Given the description of an element on the screen output the (x, y) to click on. 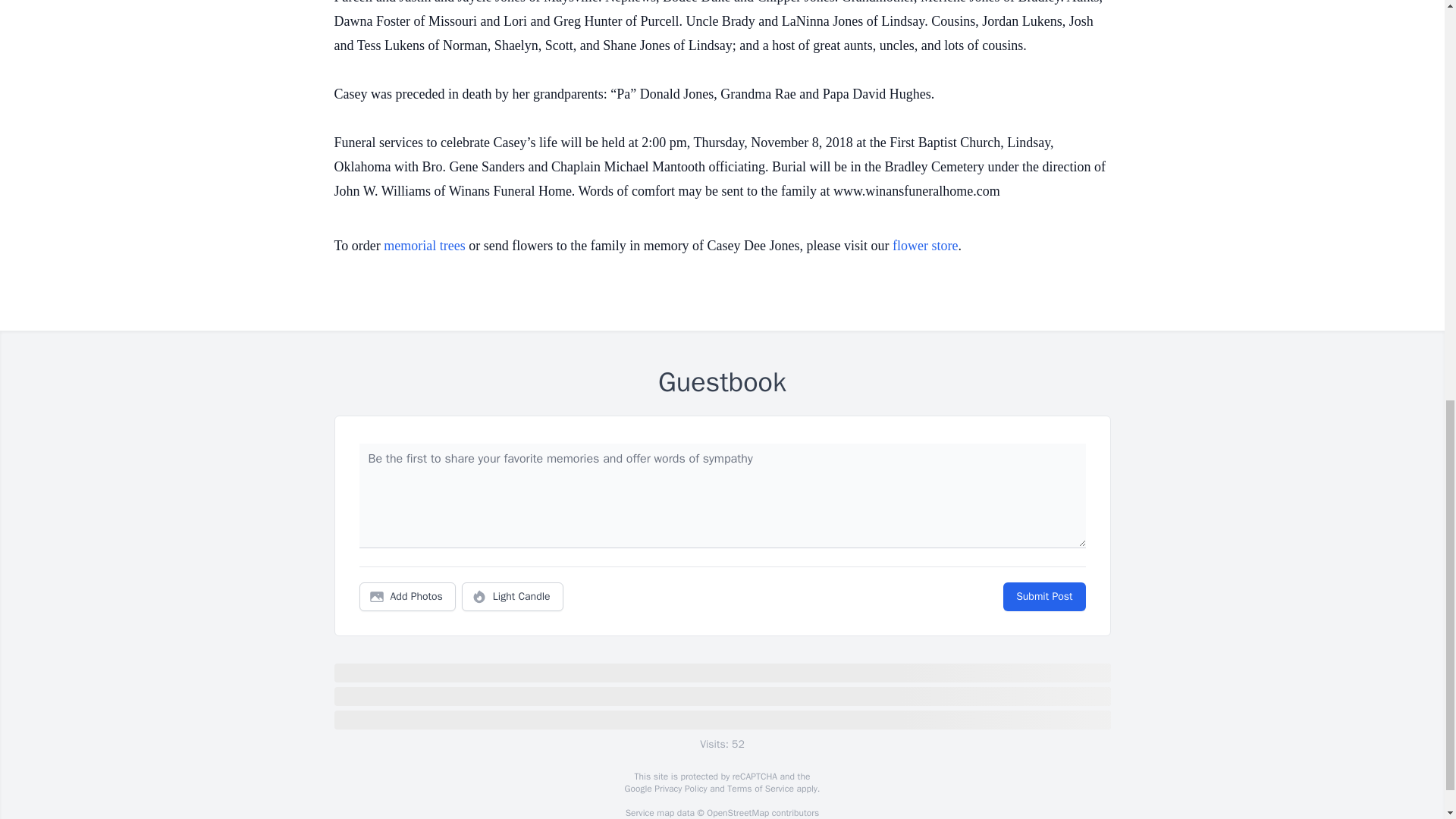
Light Candle (512, 596)
Privacy Policy (679, 788)
Terms of Service (759, 788)
Submit Post (1043, 596)
memorial trees (424, 245)
flower store (925, 245)
OpenStreetMap (737, 812)
Add Photos (407, 596)
